Given the description of an element on the screen output the (x, y) to click on. 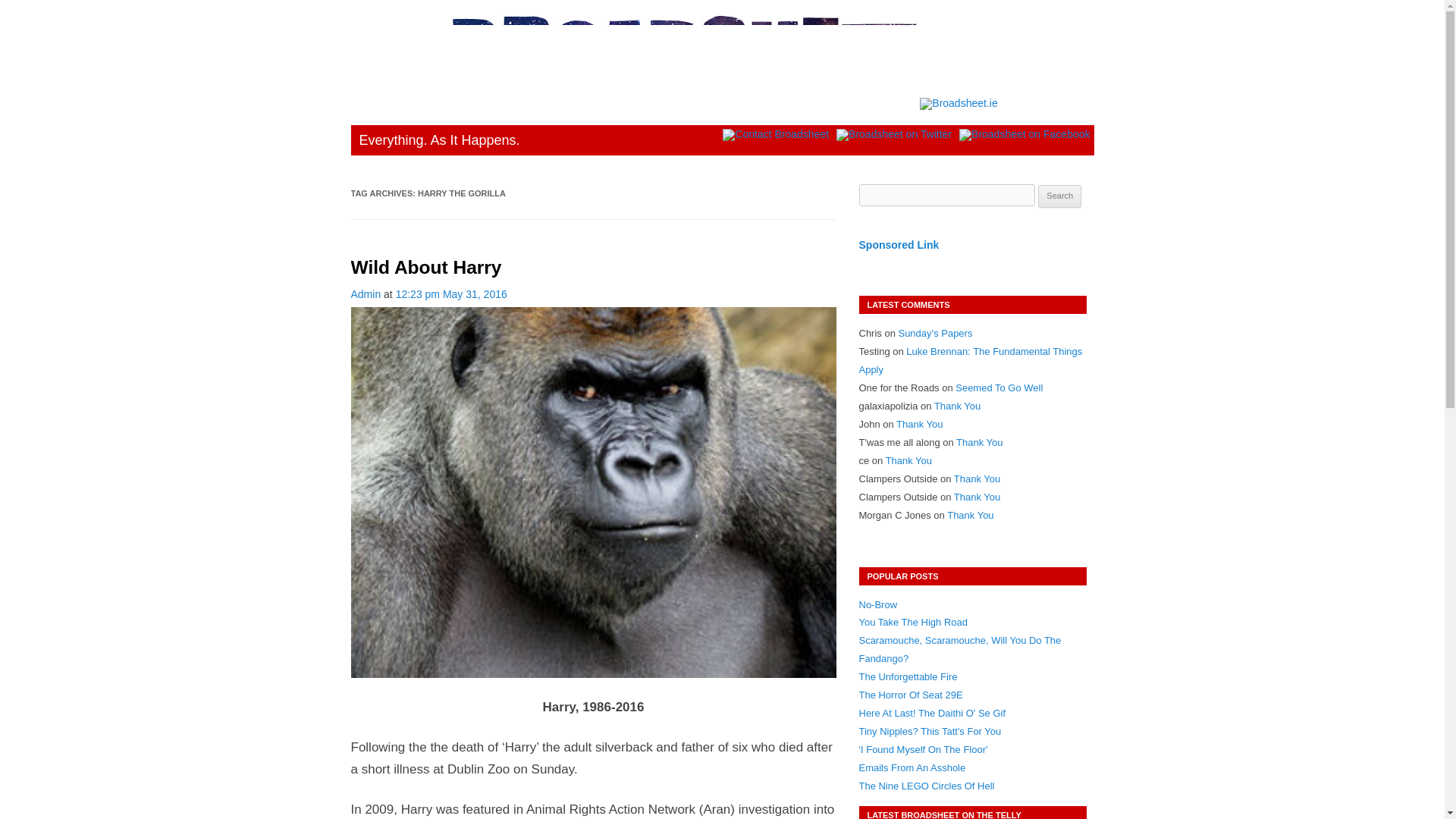
Admin (365, 294)
Wild About Harry (425, 267)
View all posts by Admin (365, 294)
12:23 pm (451, 294)
12:23 pm May 31, 2016 (451, 294)
